Given the description of an element on the screen output the (x, y) to click on. 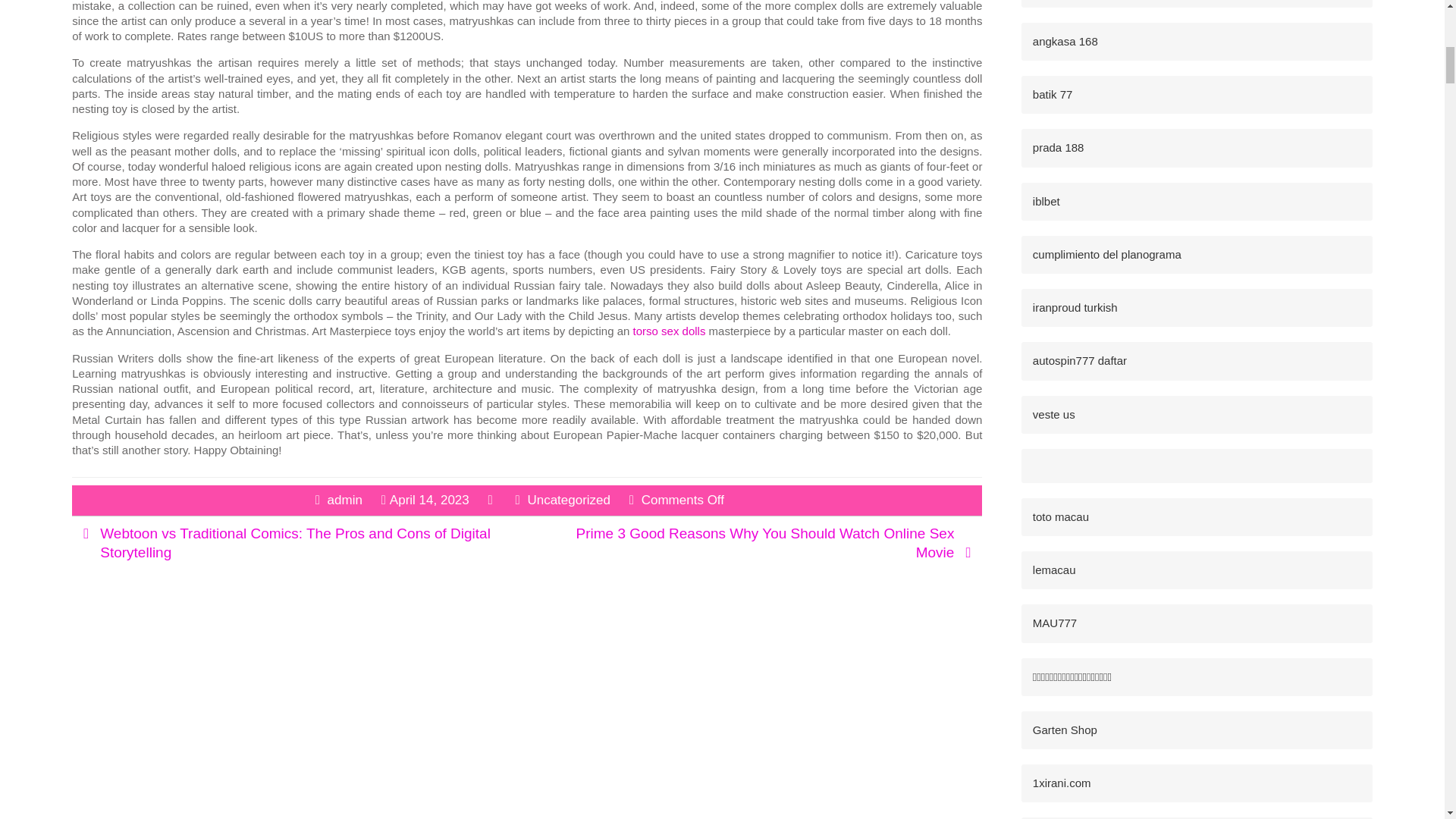
angkasa 168 (1064, 41)
batik 77 (1052, 93)
Posts by admin (344, 499)
Uncategorized (568, 499)
admin (344, 499)
Prime 3 Good Reasons Why You Should Watch Online Sex Movie (765, 543)
prada 188 (1058, 146)
torso sex dolls (669, 330)
